Given the description of an element on the screen output the (x, y) to click on. 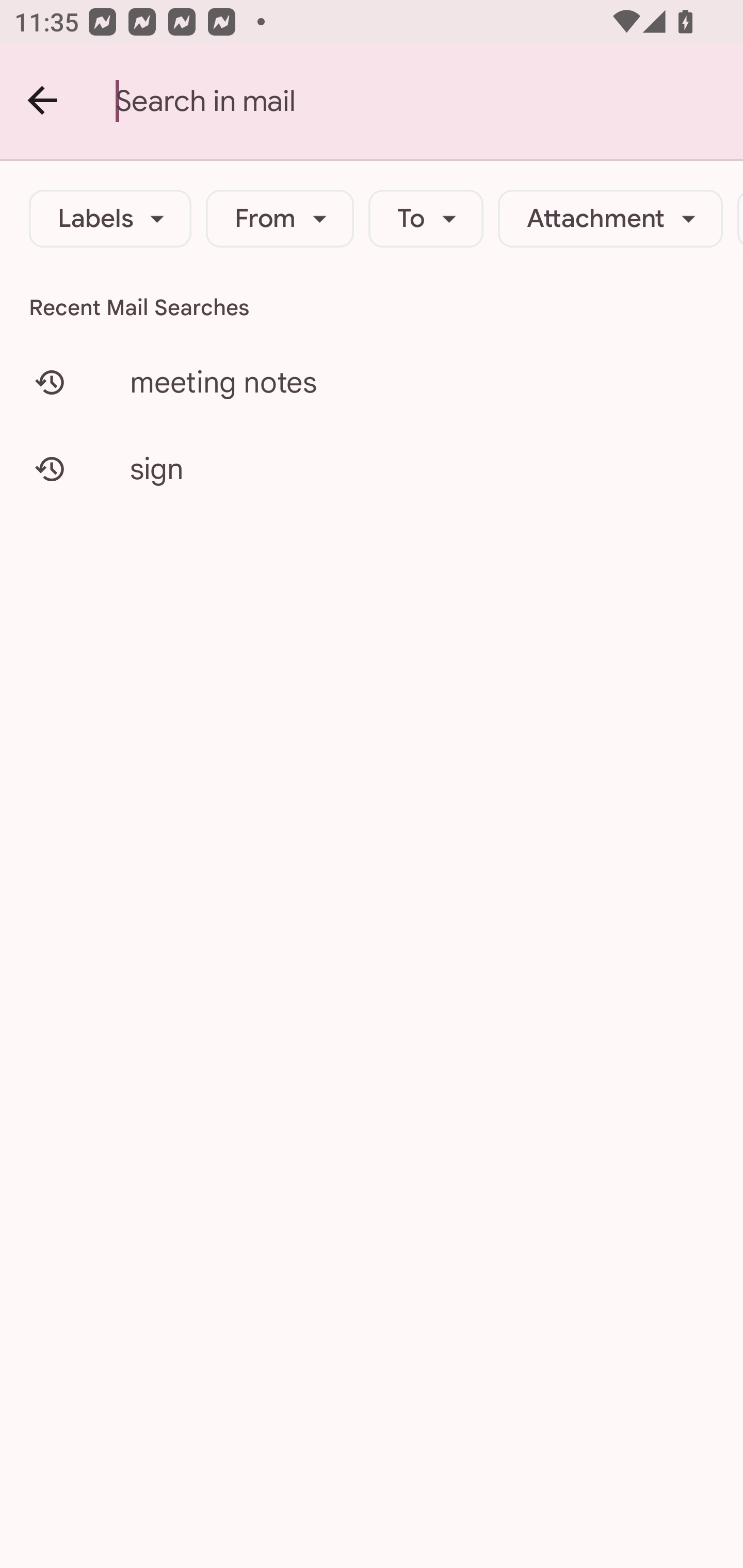
Back (43, 101)
Search in mail (429, 101)
Labels (109, 218)
From (279, 218)
To (425, 218)
Attachment (609, 218)
Recent Mail Searches (371, 306)
meeting notes Suggestion: meeting notes (371, 381)
sign Suggestion: sign (371, 468)
